Given the description of an element on the screen output the (x, y) to click on. 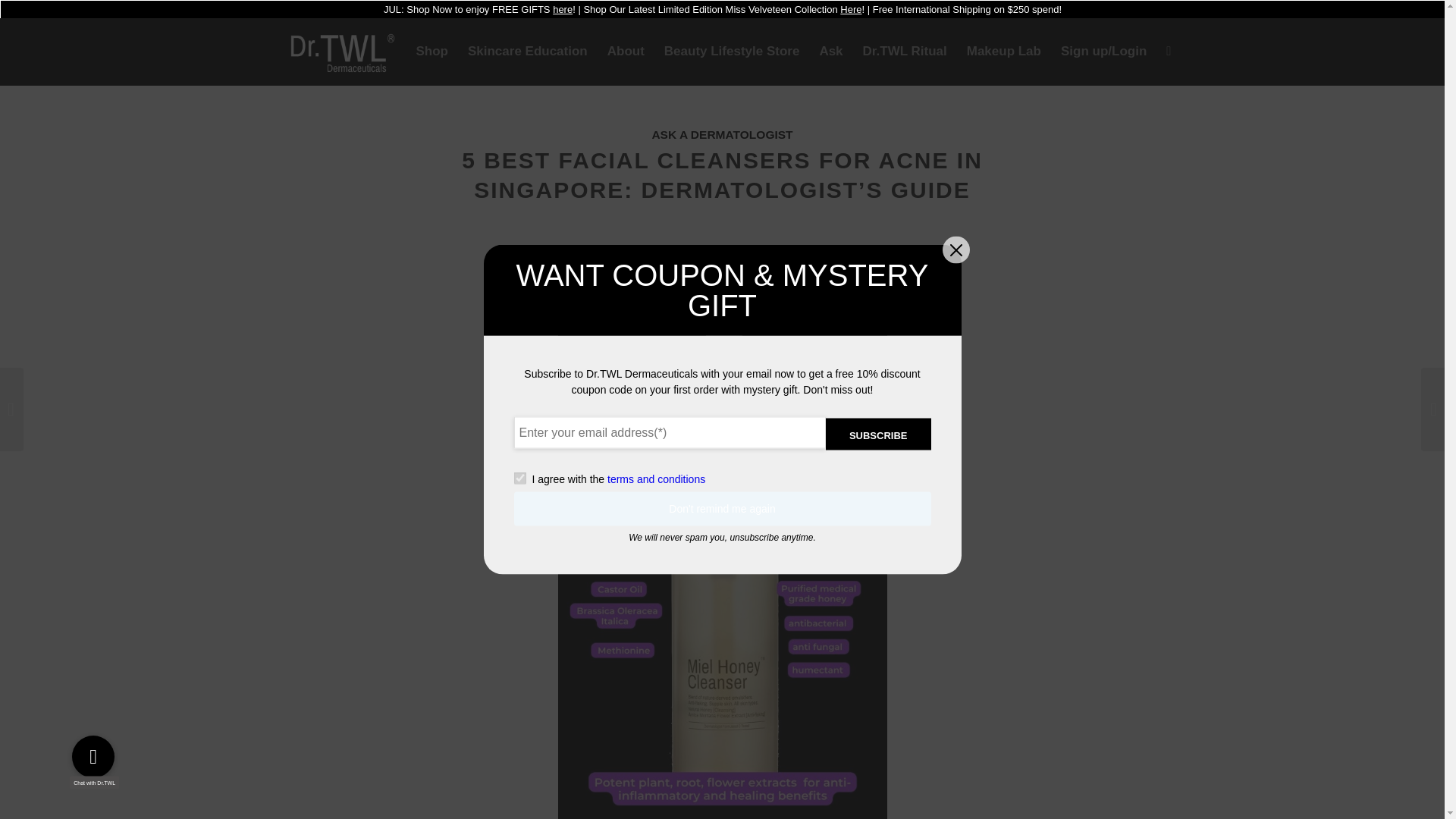
on (519, 478)
JUL: Shop Now to enjoy FREE GIFTS here! (479, 9)
